Given the description of an element on the screen output the (x, y) to click on. 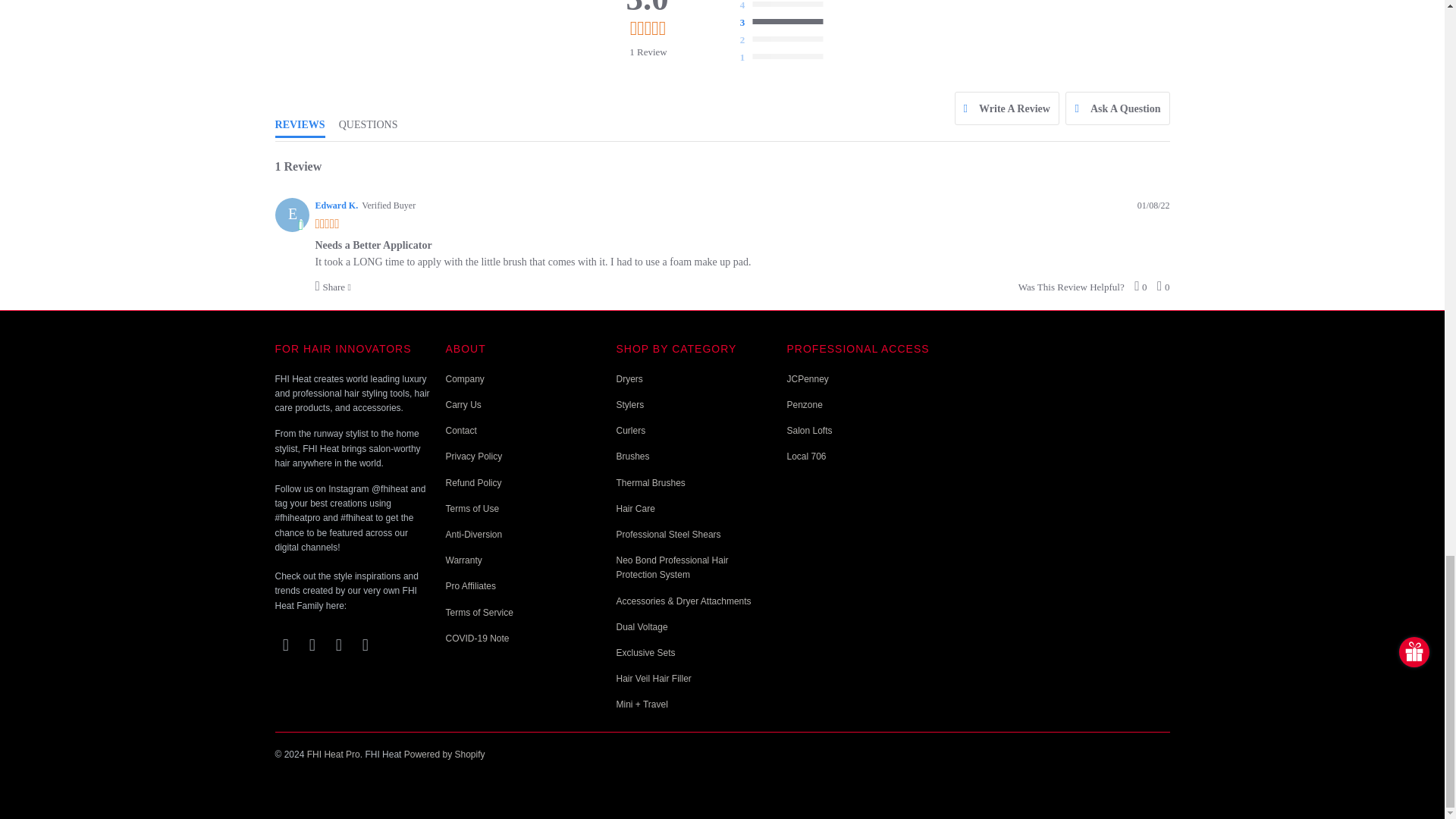
FHI Heat Pro on Twitter (286, 645)
FHI Heat Pro on Facebook (312, 645)
